Given the description of an element on the screen output the (x, y) to click on. 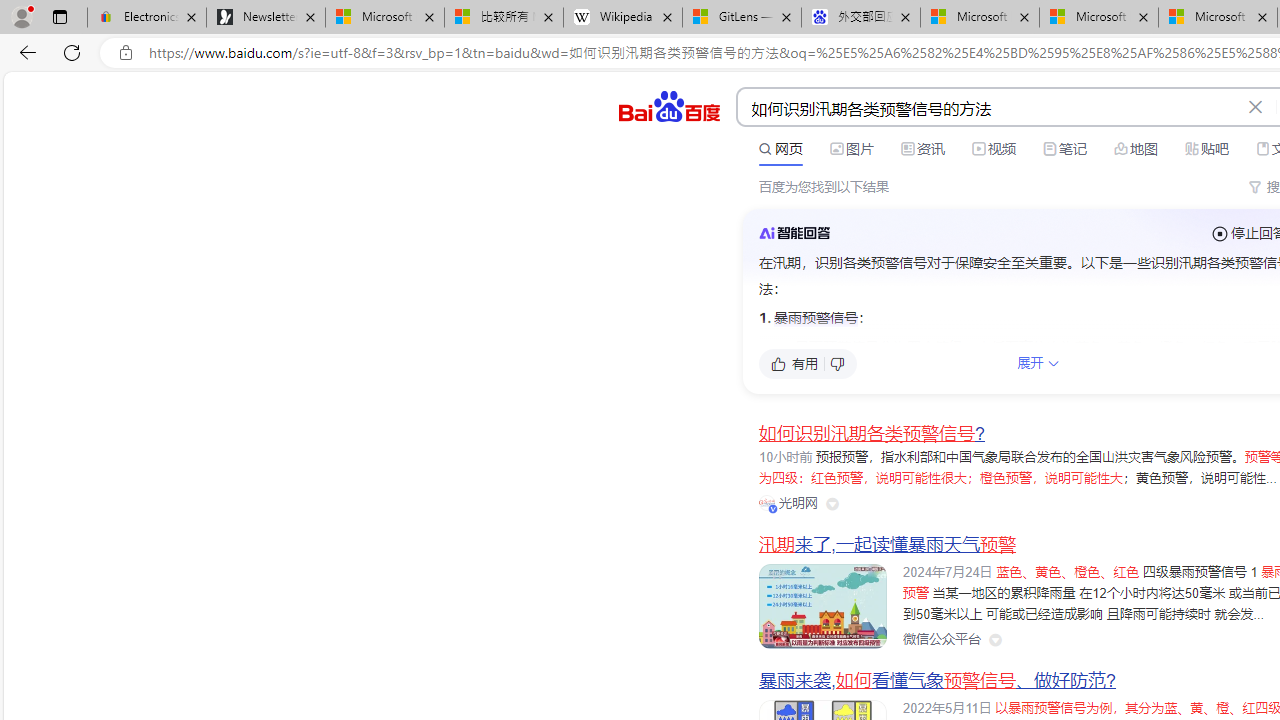
Refresh (72, 52)
Wikipedia (623, 17)
Back (24, 52)
View site information (125, 53)
Close tab (1262, 16)
